Given the description of an element on the screen output the (x, y) to click on. 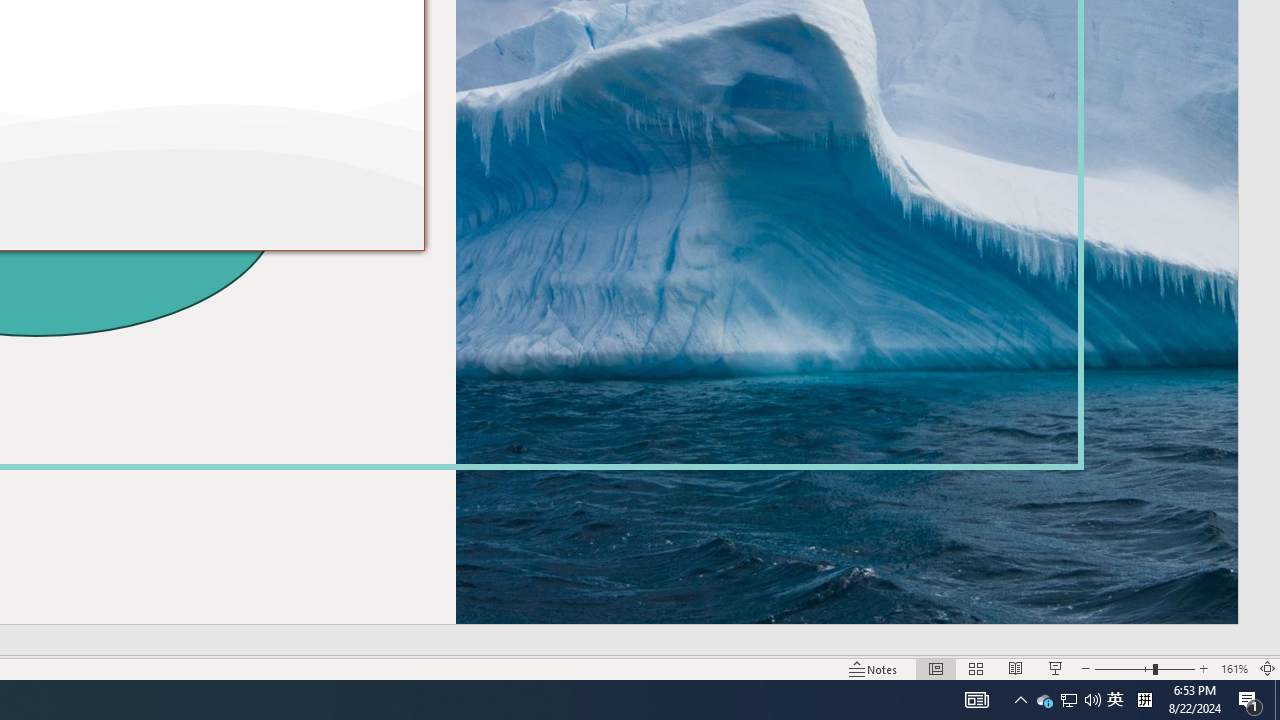
Zoom 161% (1234, 668)
